Given the description of an element on the screen output the (x, y) to click on. 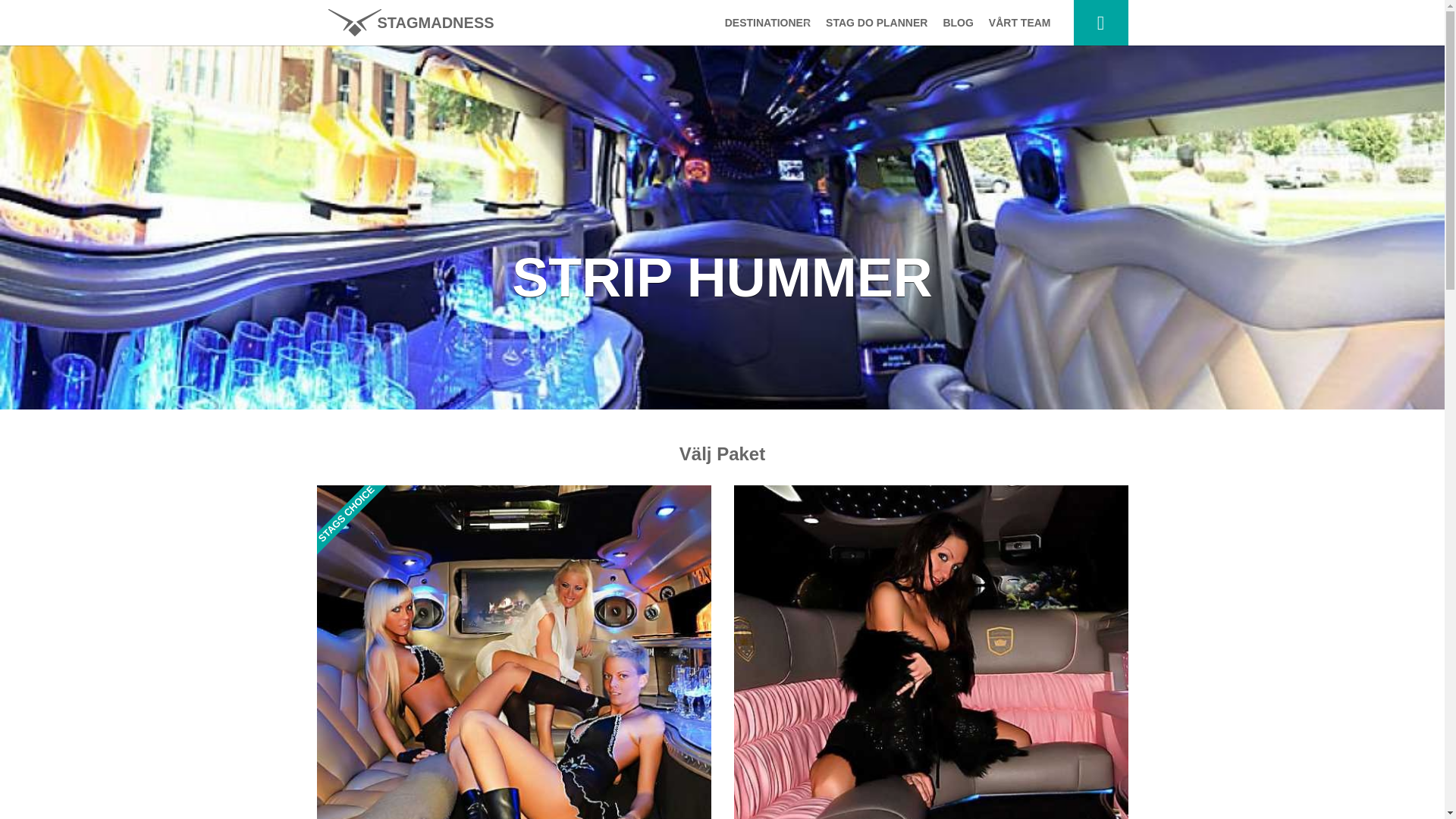
Our stag do organizer team in  (1019, 22)
STAG DO PLANNER (876, 22)
Brudgum Krakow (409, 22)
BERLIN (764, 242)
BRATISLAVA (764, 182)
BLOG (956, 22)
HAMBURG (764, 151)
KRAKOW (764, 212)
BUDAPEST (764, 60)
Stag Do Planner (876, 22)
Din svensexa helgs planer (1101, 22)
PRAG (764, 91)
DESTINATIONER (764, 22)
STAGMADNESS (409, 22)
AMSTERDAM (764, 121)
